Given the description of an element on the screen output the (x, y) to click on. 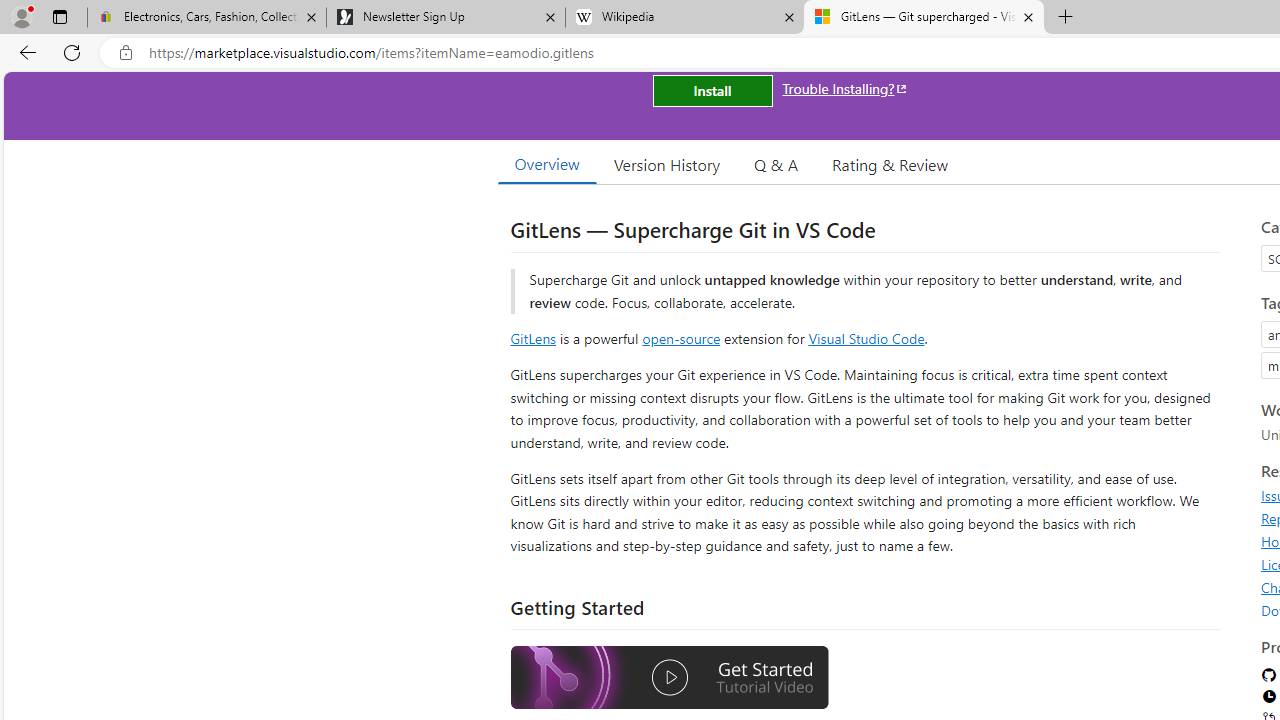
open-source (681, 337)
Rating & Review (890, 164)
Watch the GitLens Getting Started video (669, 678)
Version History (667, 164)
Q & A (776, 164)
